Given the description of an element on the screen output the (x, y) to click on. 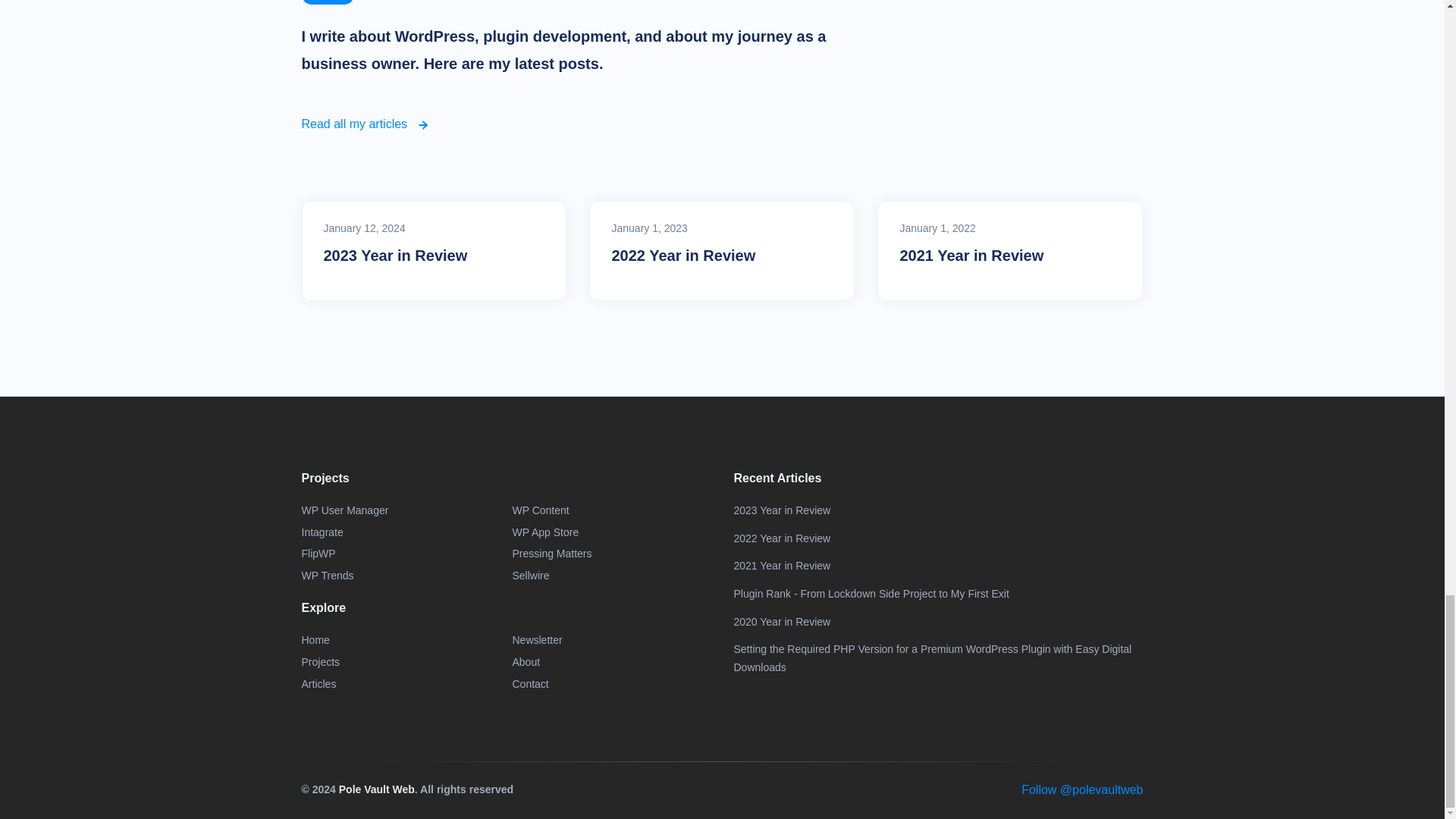
WP Content (540, 510)
WP Trends (327, 576)
WP App Store (545, 532)
Intagrate (322, 532)
Home (315, 640)
2021 Year in Review (1010, 255)
2023 Year in Review (433, 255)
Read all my articles (365, 123)
WP User Manager (344, 510)
2022 Year in Review (721, 255)
Sellwire (531, 576)
Pressing Matters (552, 554)
Projects (320, 662)
FlipWP (318, 554)
